Given the description of an element on the screen output the (x, y) to click on. 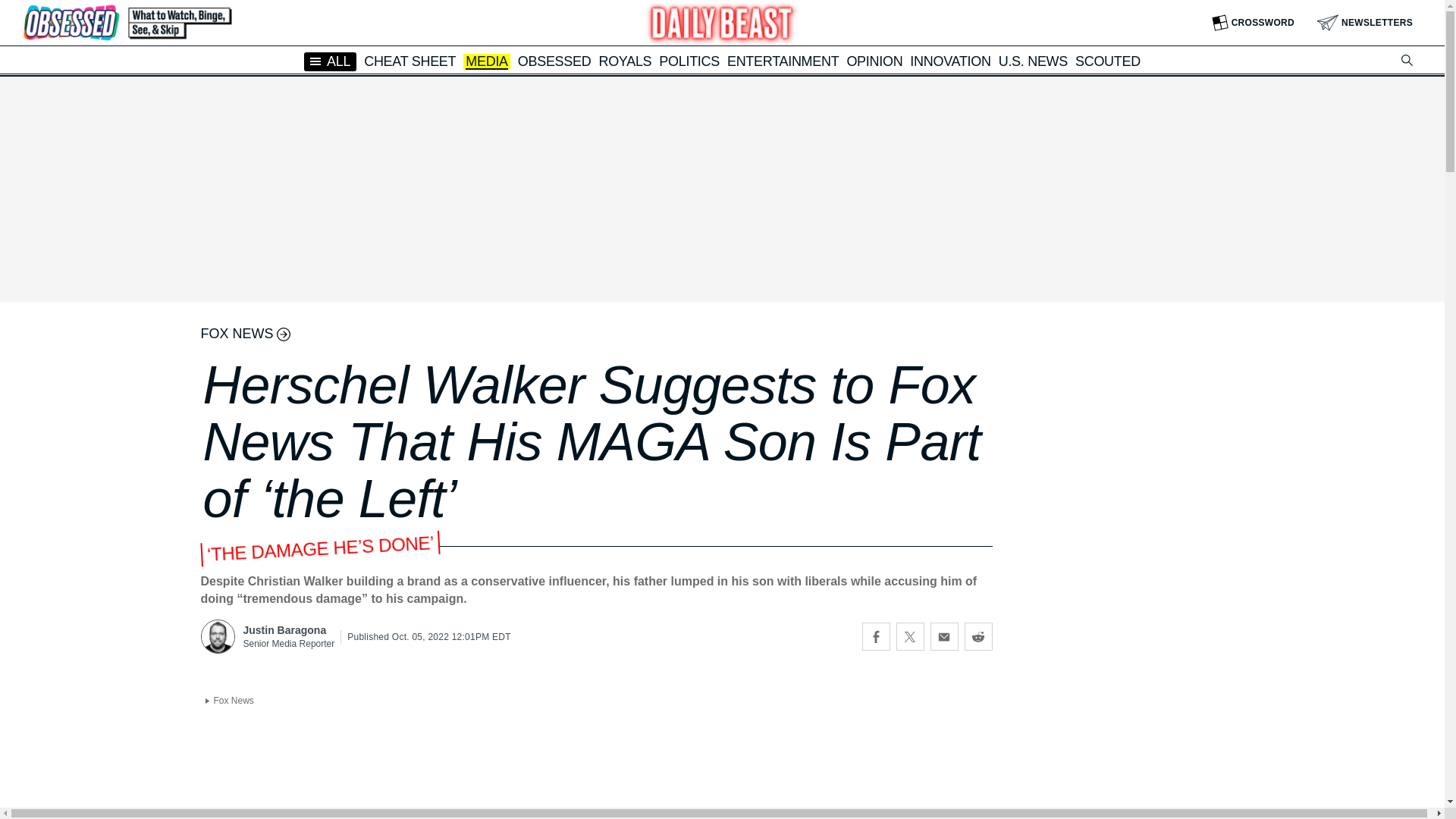
POLITICS (689, 60)
U.S. NEWS (1032, 60)
SCOUTED (1107, 60)
MEDIA (486, 61)
ALL (330, 60)
ROYALS (624, 60)
INNOVATION (950, 60)
OPINION (873, 60)
OBSESSED (554, 60)
ENTERTAINMENT (782, 60)
CROSSWORD (1252, 22)
NEWSLETTERS (1364, 22)
CHEAT SHEET (409, 60)
